Given the description of an element on the screen output the (x, y) to click on. 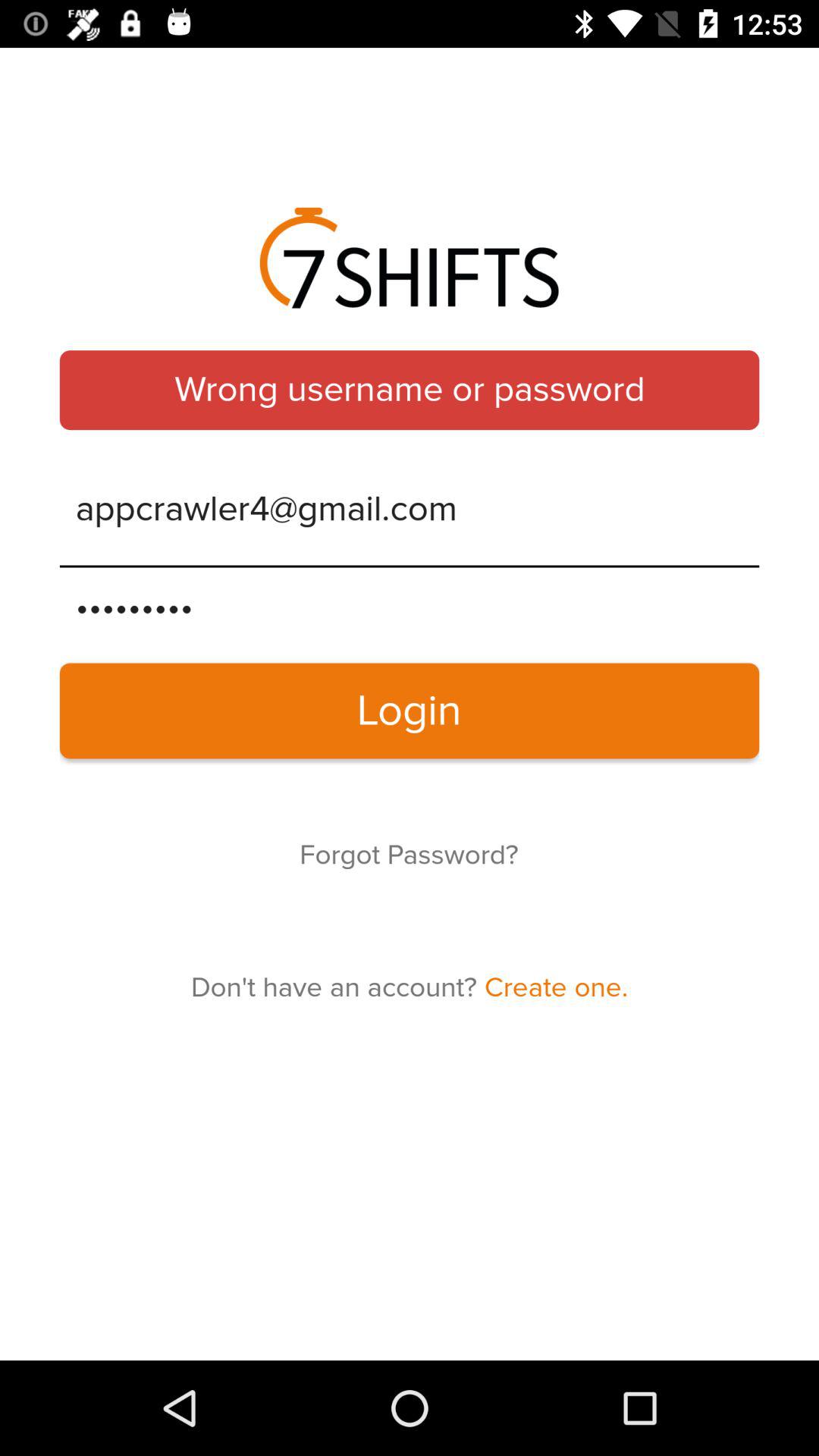
swipe to the don t have icon (409, 987)
